Given the description of an element on the screen output the (x, y) to click on. 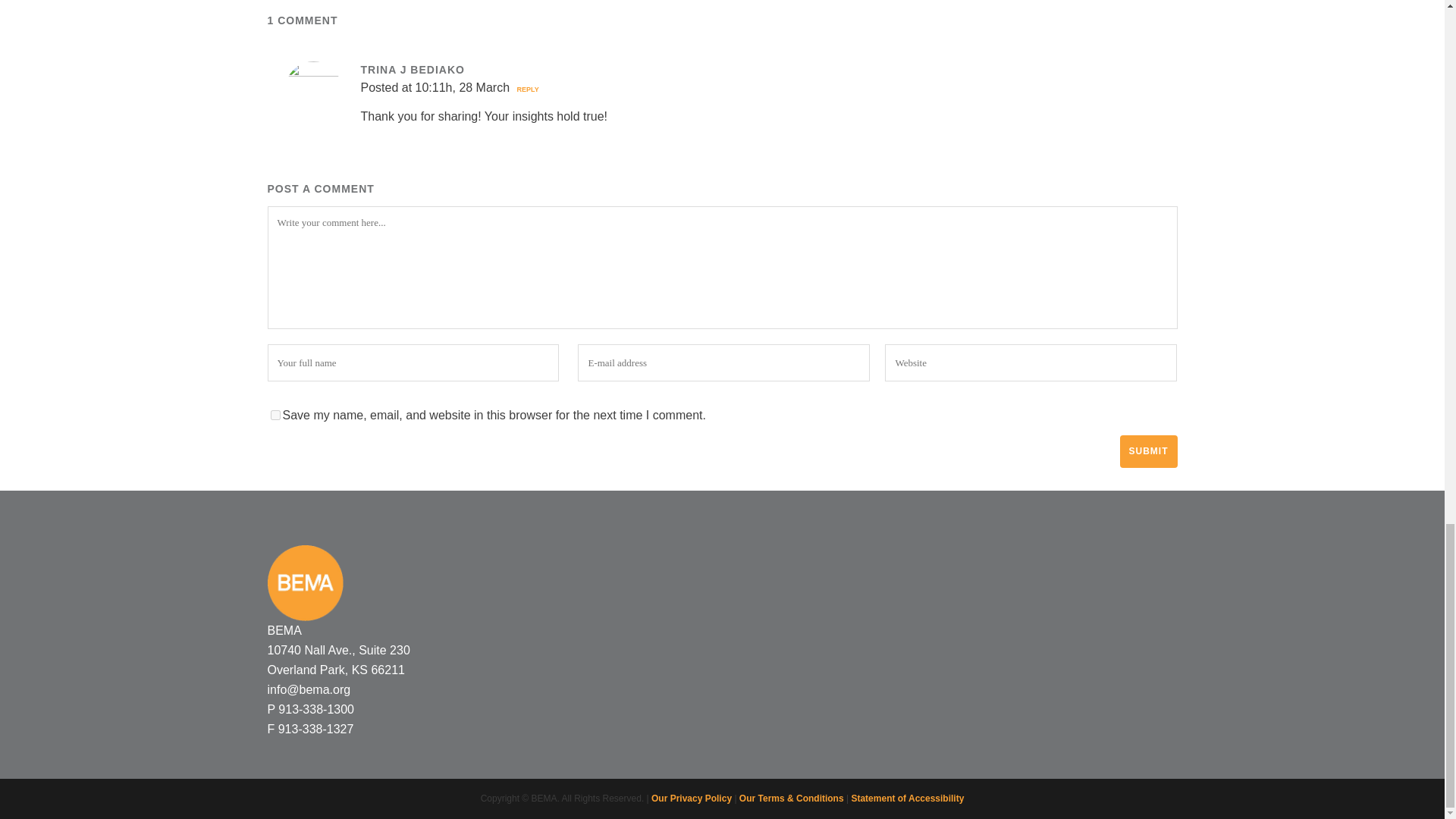
Submit (1147, 450)
yes (274, 415)
